Given the description of an element on the screen output the (x, y) to click on. 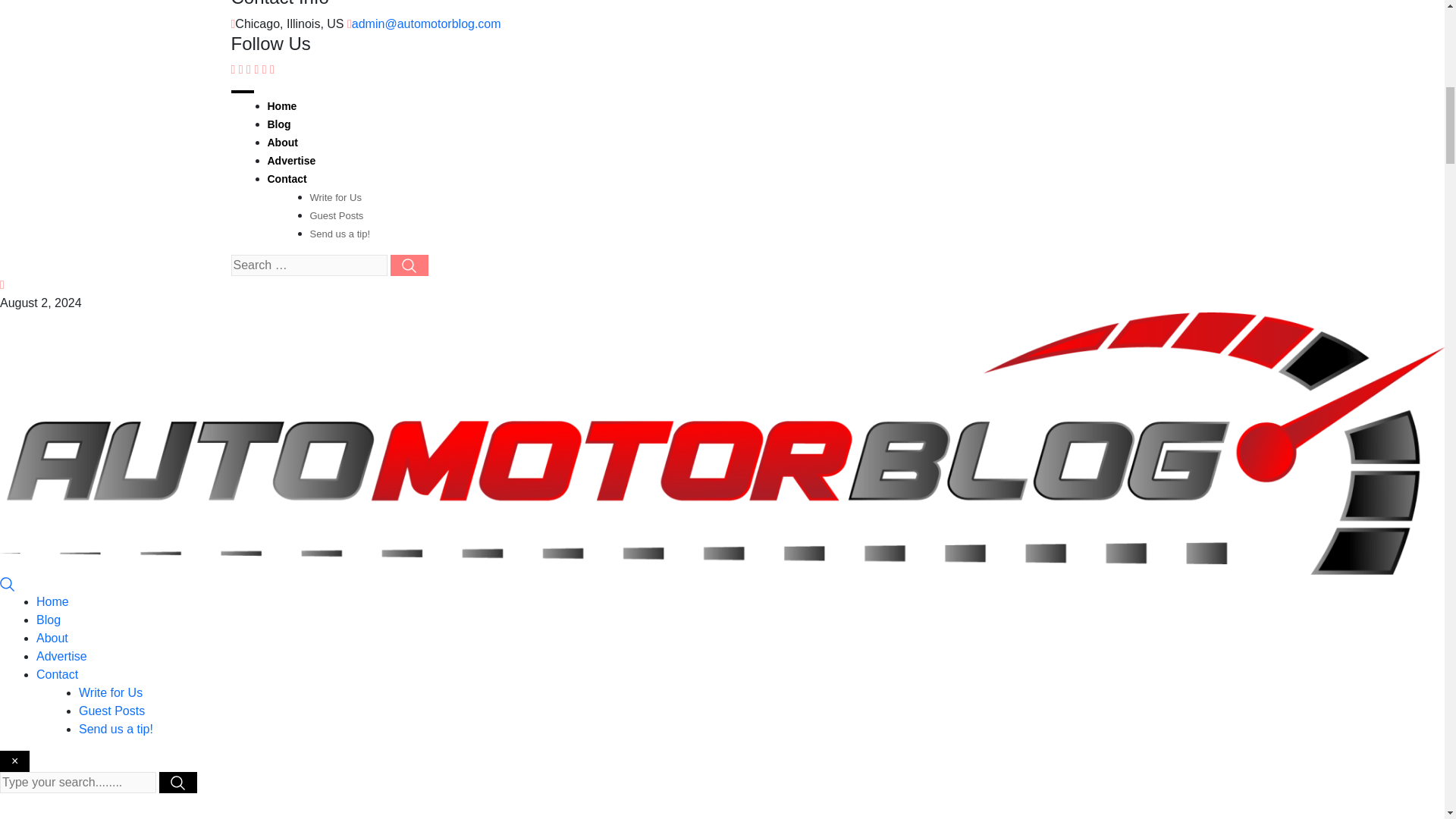
Contact (57, 674)
Write for Us (334, 197)
Blog (48, 619)
Blog (277, 123)
Advertise (61, 656)
Send us a tip! (338, 233)
Guest Posts (335, 215)
Contact (285, 178)
About (281, 142)
About (52, 637)
Search (7, 583)
Home (52, 601)
Home (281, 105)
